Given the description of an element on the screen output the (x, y) to click on. 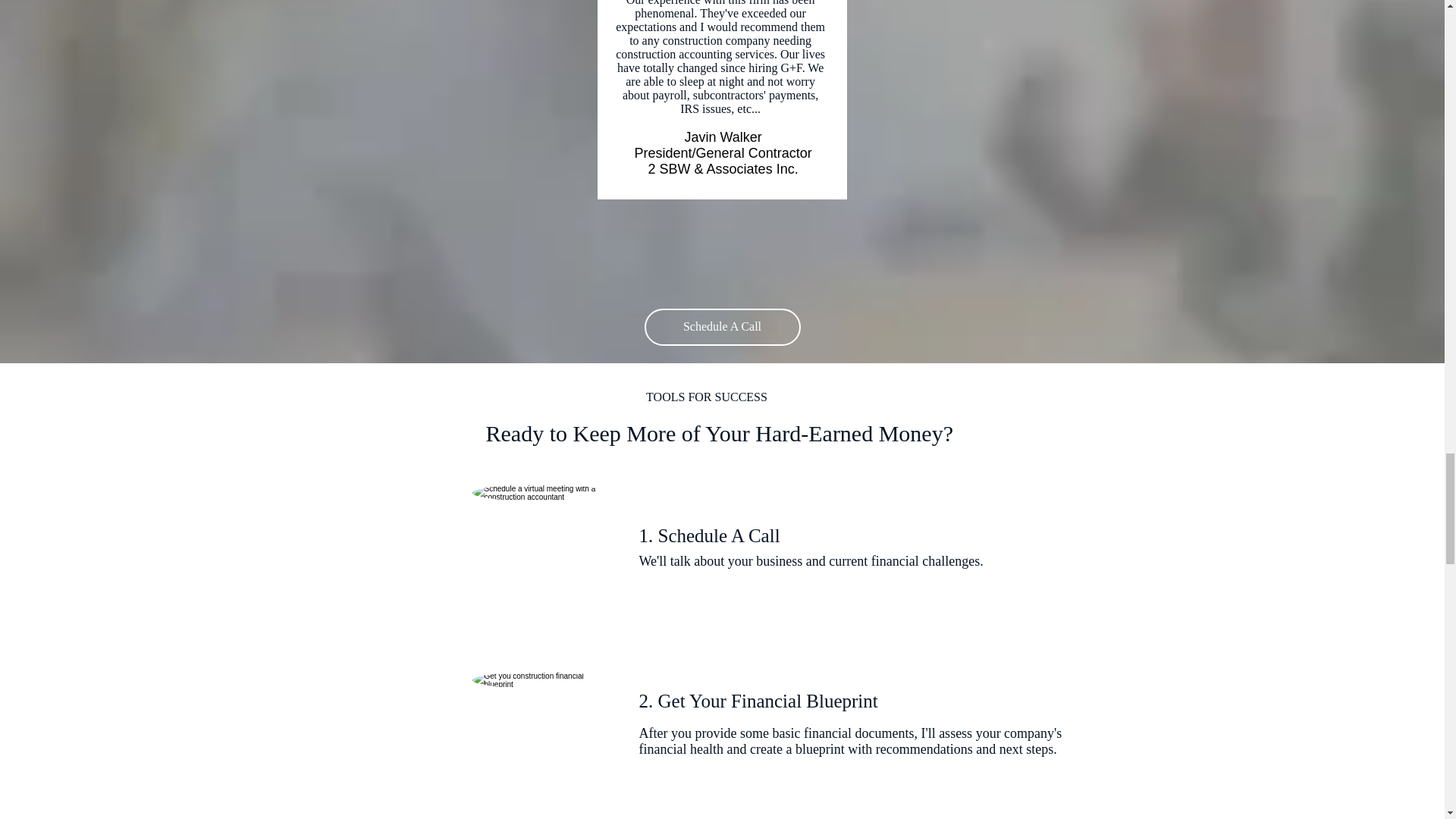
Schedule A Call (722, 326)
